Given the description of an element on the screen output the (x, y) to click on. 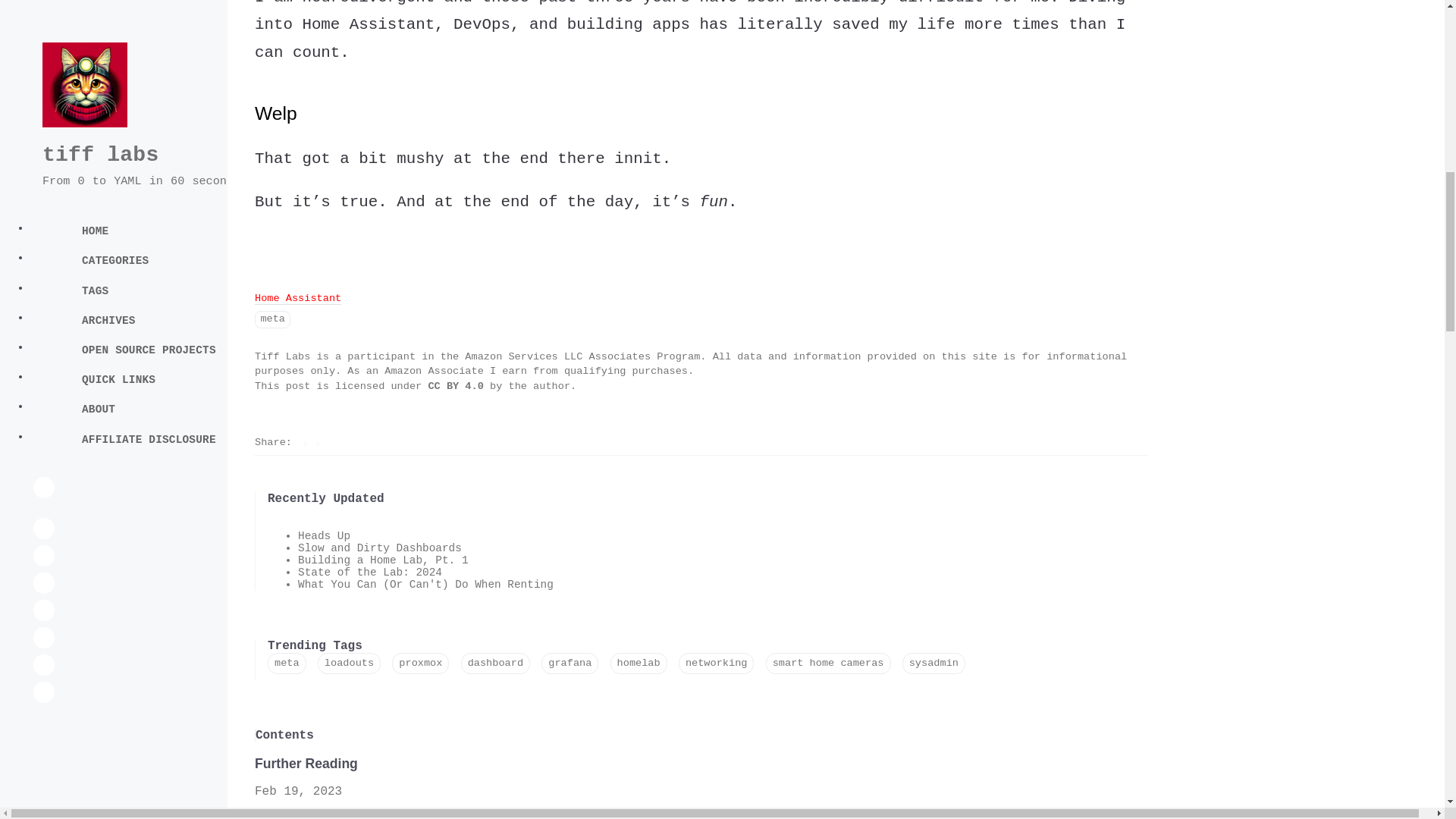
Slow and Dirty Dashboards (379, 548)
Heads Up (324, 535)
State of the Lab: 2024 (370, 572)
CC BY 4.0 (458, 386)
Building a Home Lab, Pt. 1 (383, 560)
proxmox (419, 663)
loadouts (348, 663)
Home Assistant (297, 298)
dashboard (495, 663)
meta (271, 319)
grafana (569, 663)
meta (286, 663)
